Given the description of an element on the screen output the (x, y) to click on. 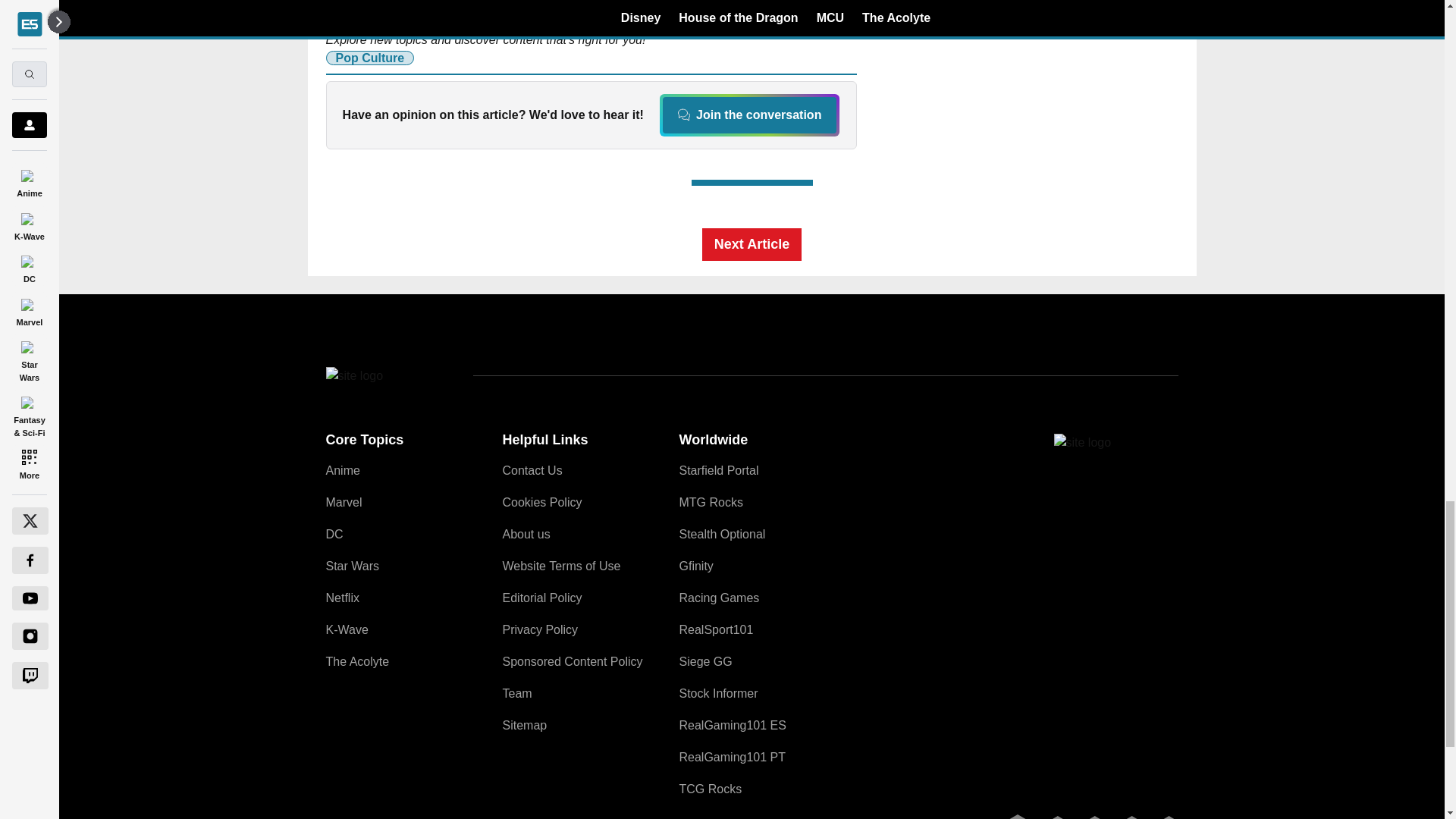
Latest News (1063, 77)
